Given the description of an element on the screen output the (x, y) to click on. 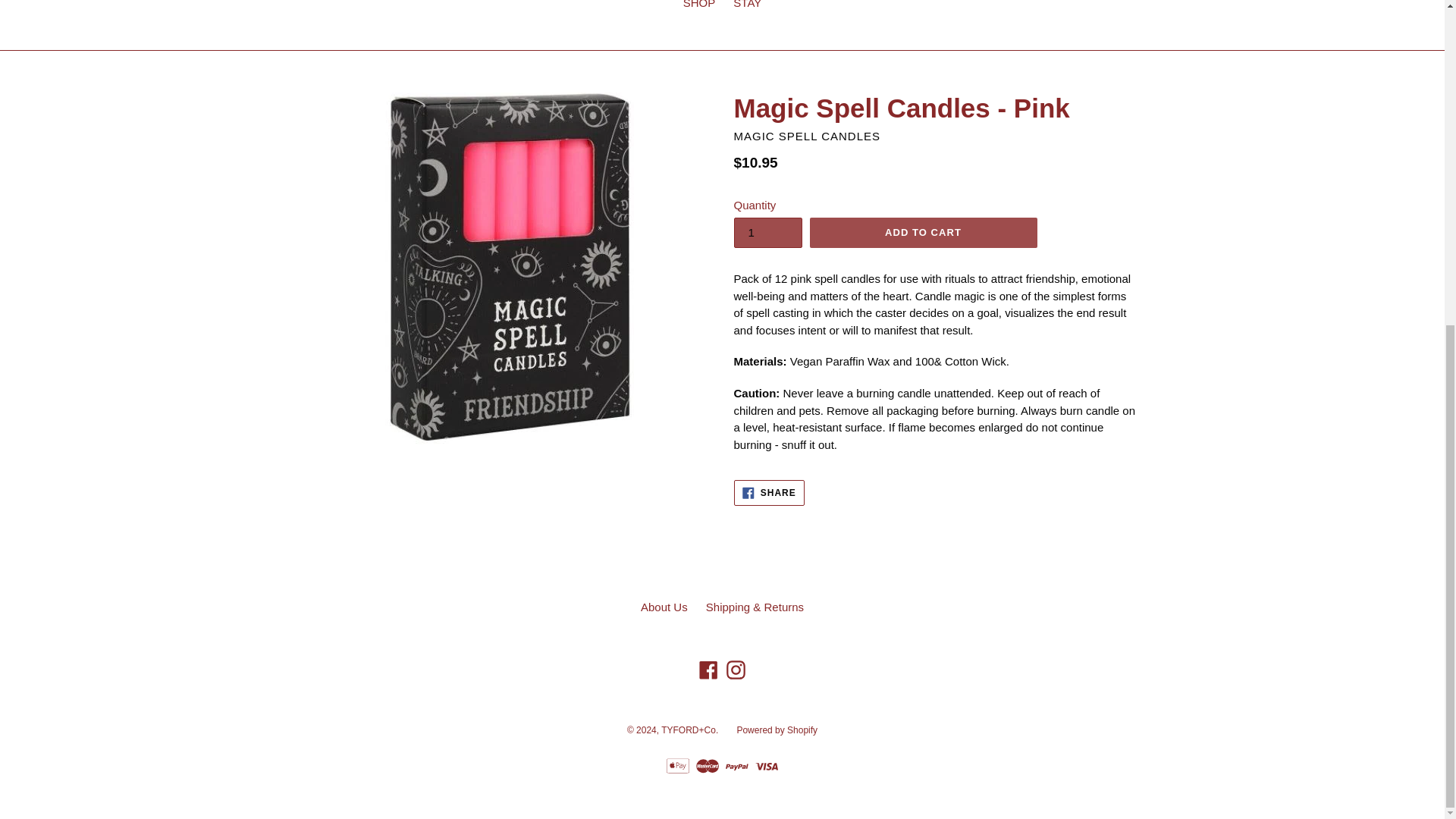
STAY (746, 7)
Share on Facebook (769, 492)
SHOP (699, 7)
Instagram (735, 669)
About Us (663, 606)
ADD TO CART (922, 232)
Facebook (708, 669)
1 (767, 232)
Powered by Shopify (769, 492)
